Given the description of an element on the screen output the (x, y) to click on. 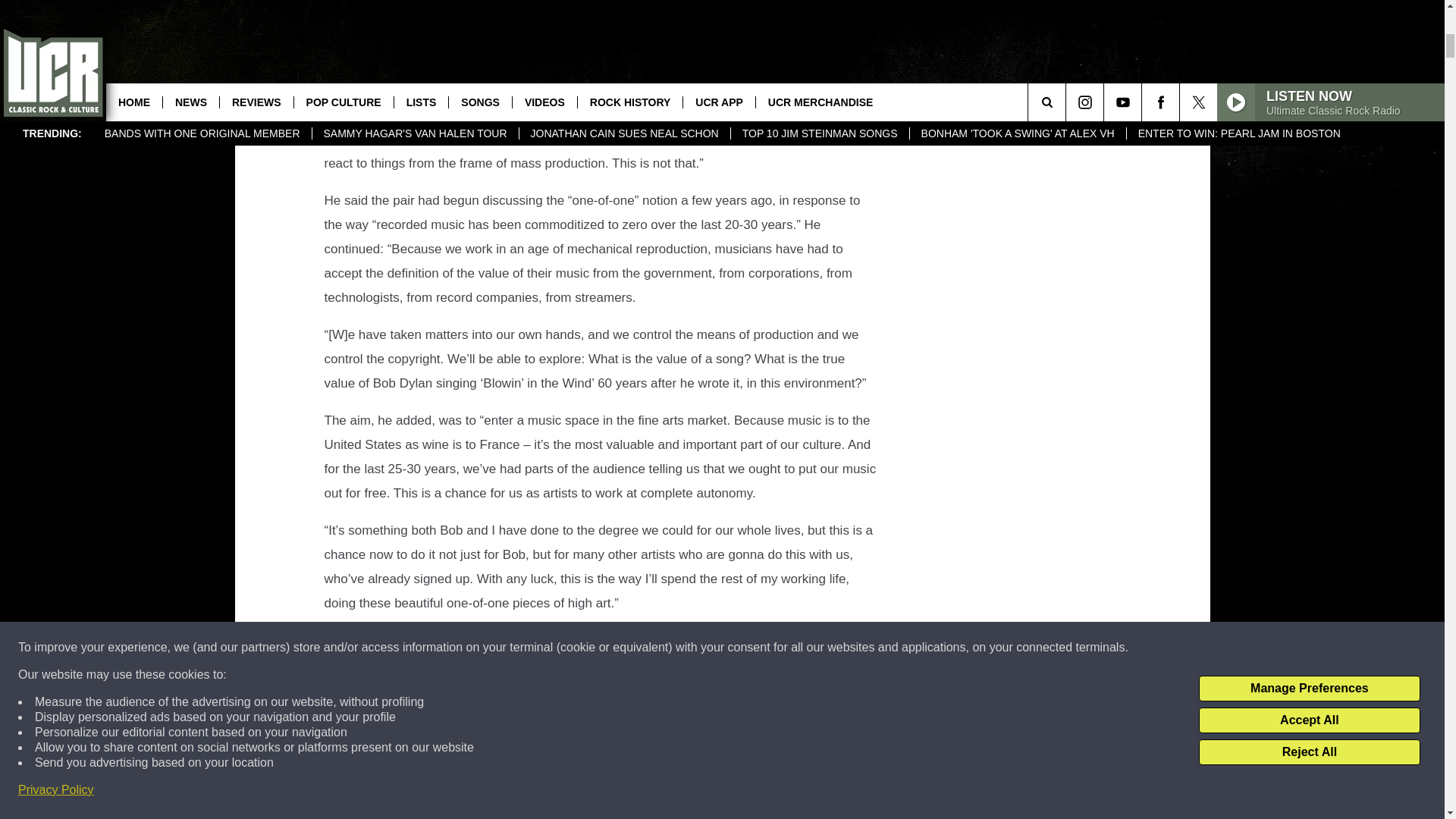
Variety (607, 90)
